Given the description of an element on the screen output the (x, y) to click on. 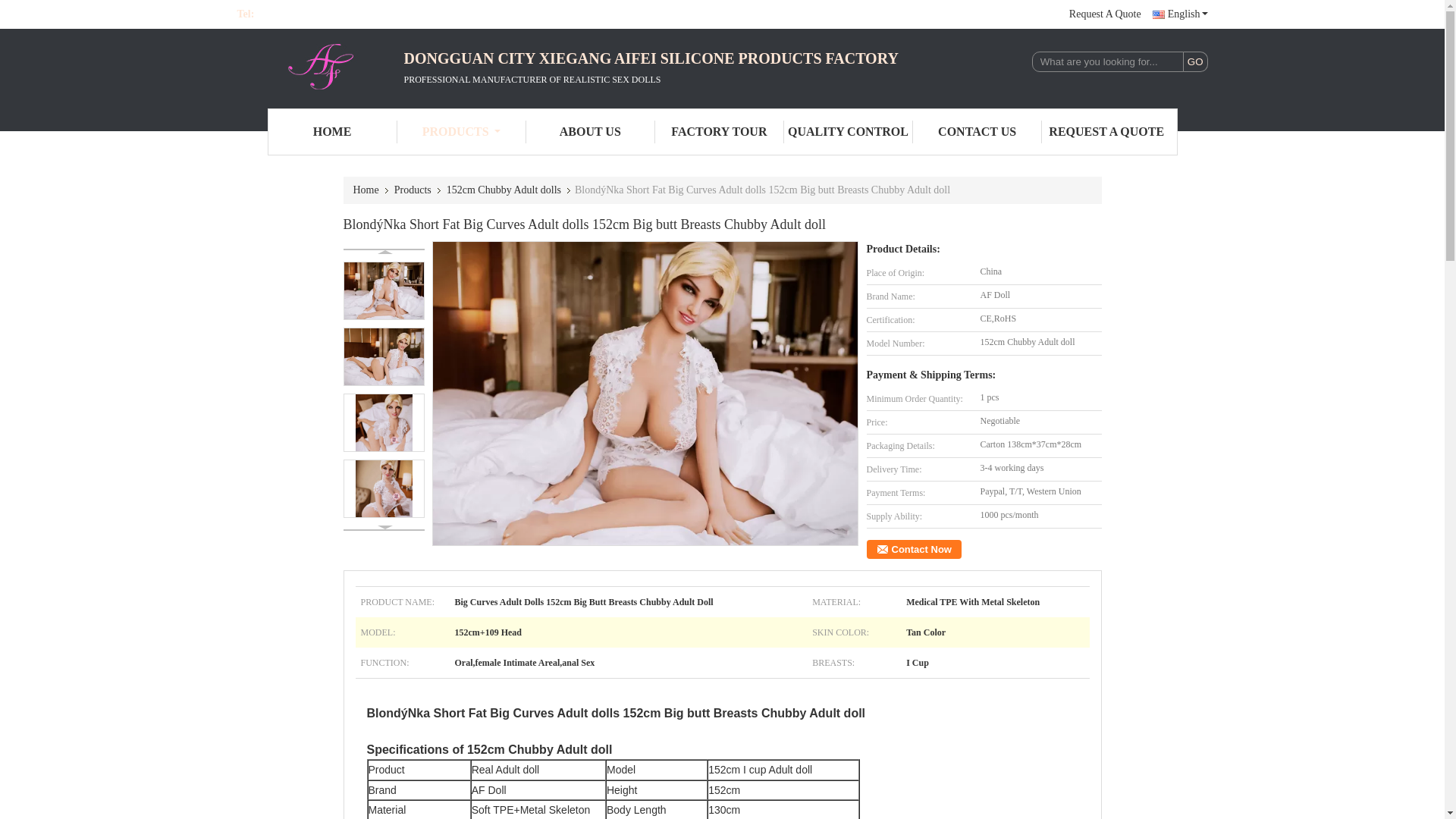
ABOUT US (590, 131)
HOME (332, 131)
GO (1195, 61)
Request A Quote (1104, 14)
China 170cm F cup Fine Adult doll manufacturer (319, 66)
English (1180, 14)
PRODUCTS (461, 131)
GO (1195, 61)
